Given the description of an element on the screen output the (x, y) to click on. 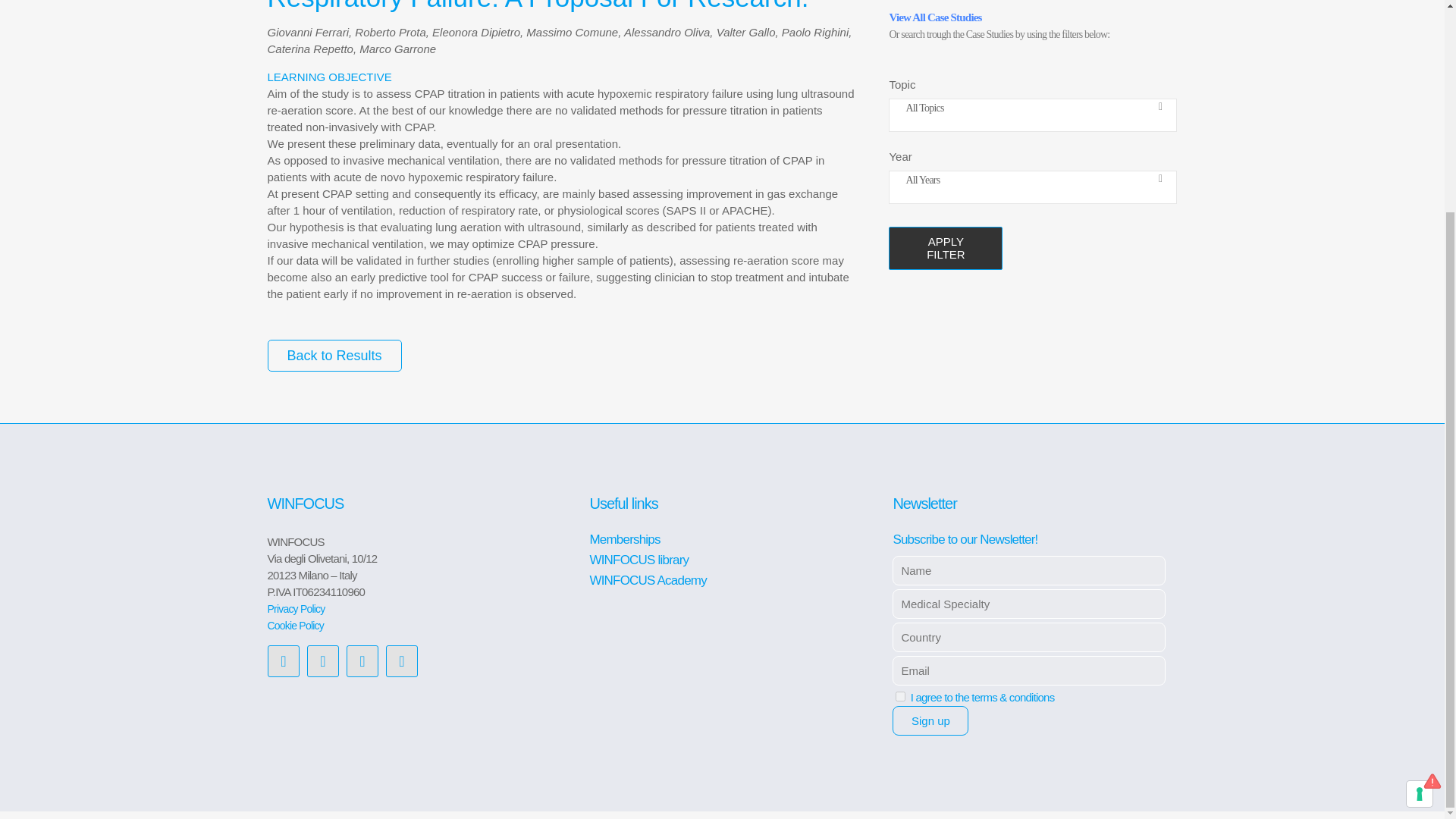
All Years (1018, 180)
All Topics (1018, 108)
Sign up (930, 720)
1 (900, 696)
